Given the description of an element on the screen output the (x, y) to click on. 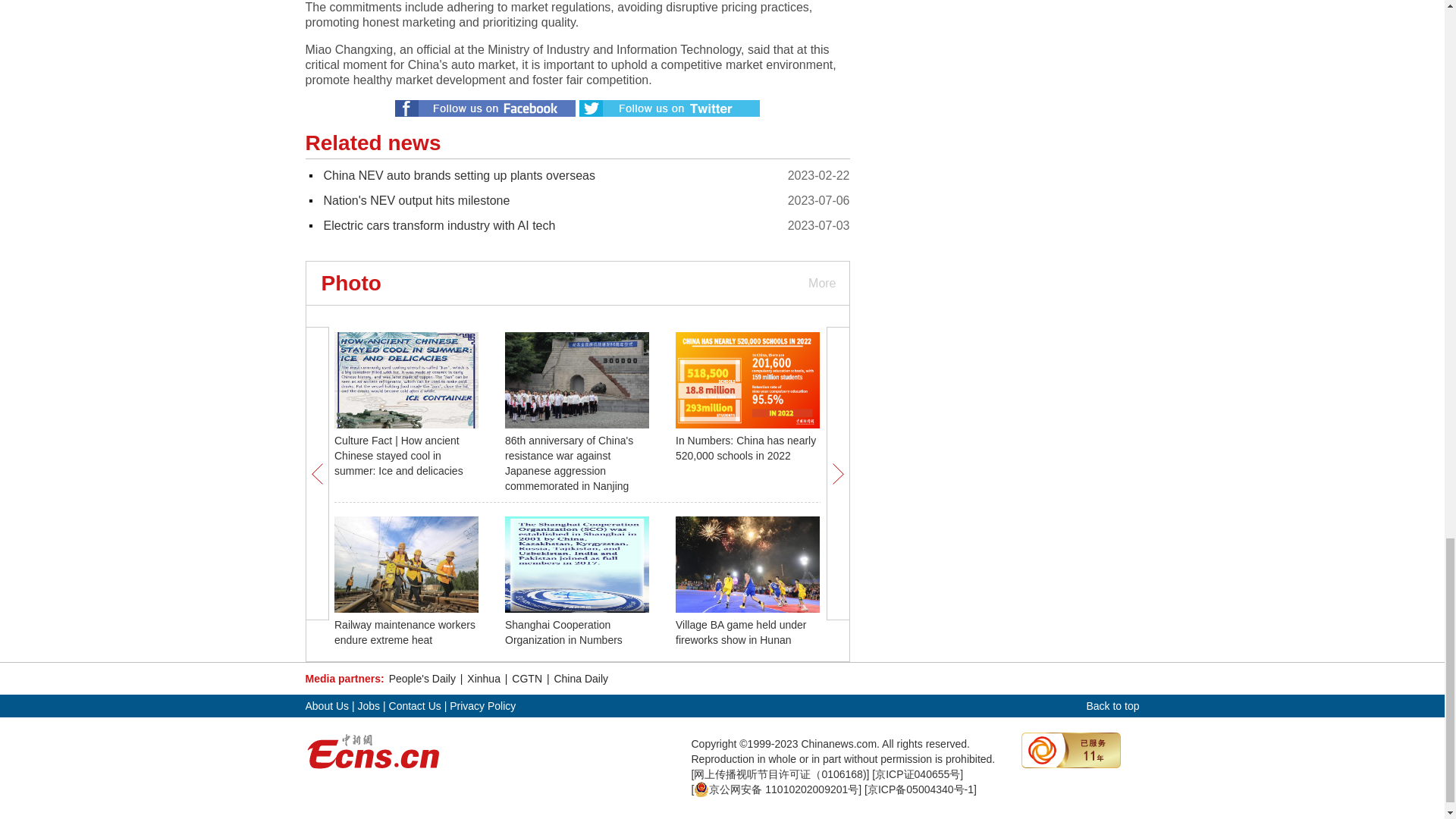
Shanghai Cooperation Organization in Numbers (564, 632)
Village BA game held under fireworks show in Hunan (740, 632)
In Numbers: China has nearly 520,000 schools in 2022 (745, 447)
Nation's NEV output hits milestone (416, 200)
Electric cars transform industry with AI tech (438, 225)
China NEV auto brands setting up plants overseas (458, 174)
Railway maintenance workers endure extreme heat (405, 632)
